Given the description of an element on the screen output the (x, y) to click on. 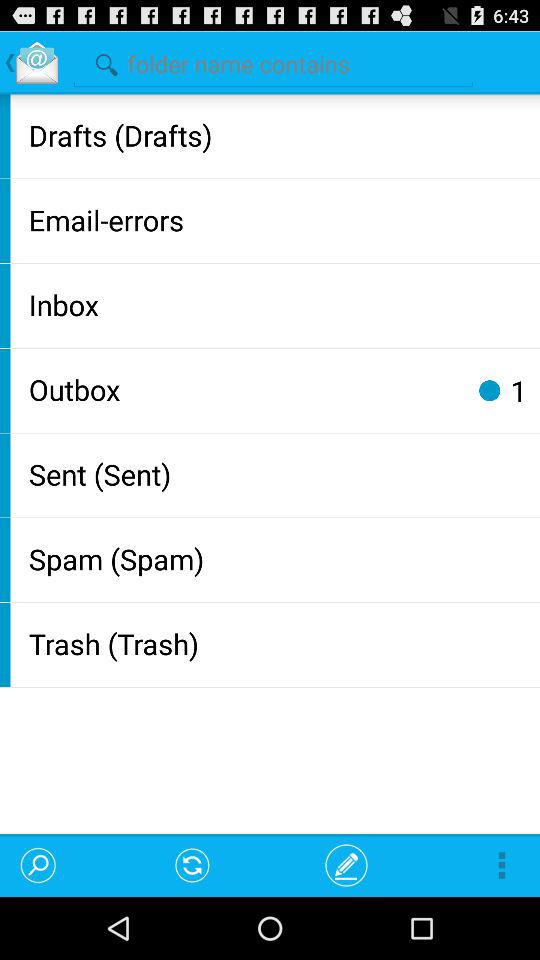
search folders (273, 61)
